Given the description of an element on the screen output the (x, y) to click on. 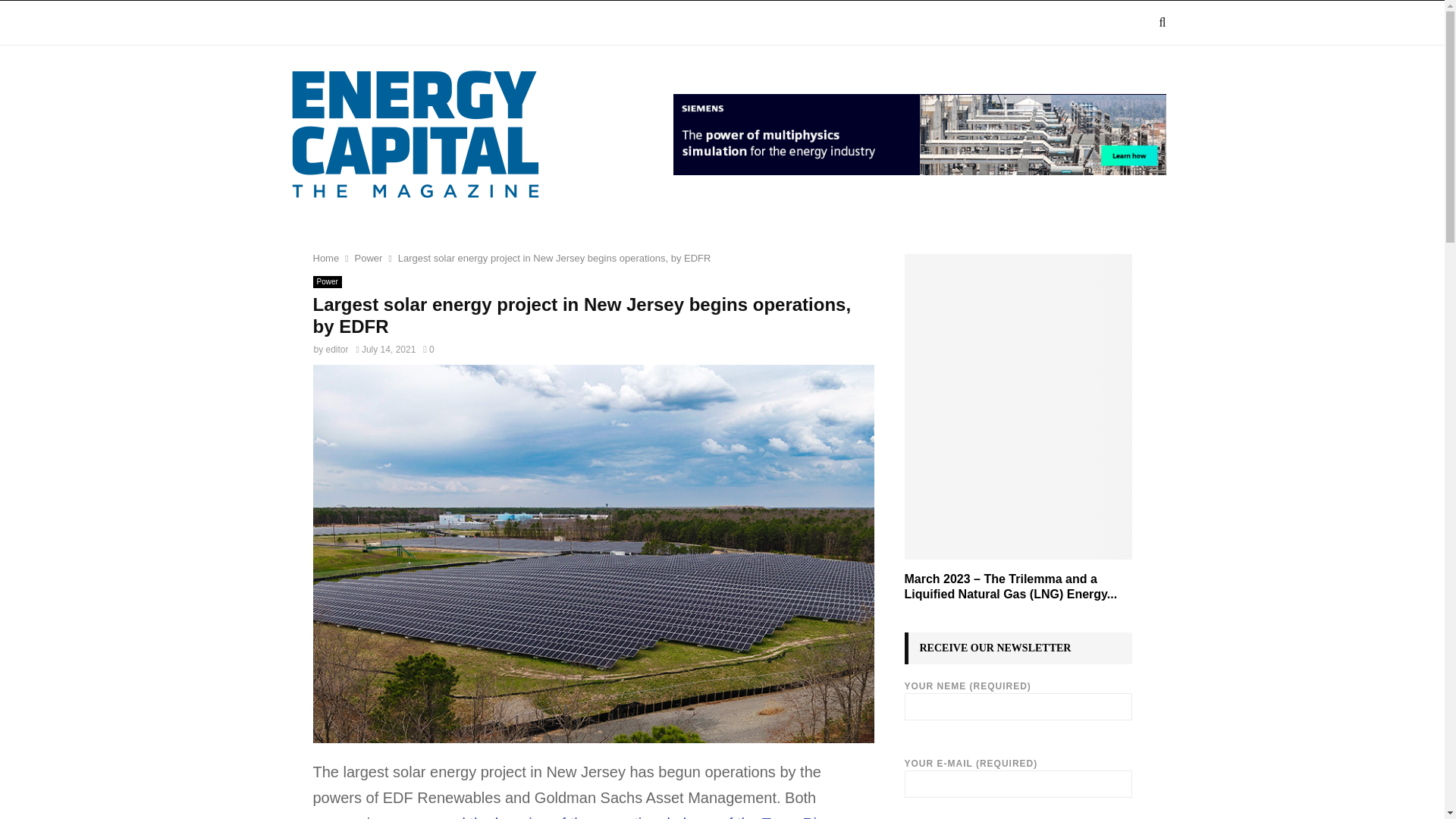
HOME (308, 22)
SECTORS (474, 22)
MAGAZINE (383, 22)
